Given the description of an element on the screen output the (x, y) to click on. 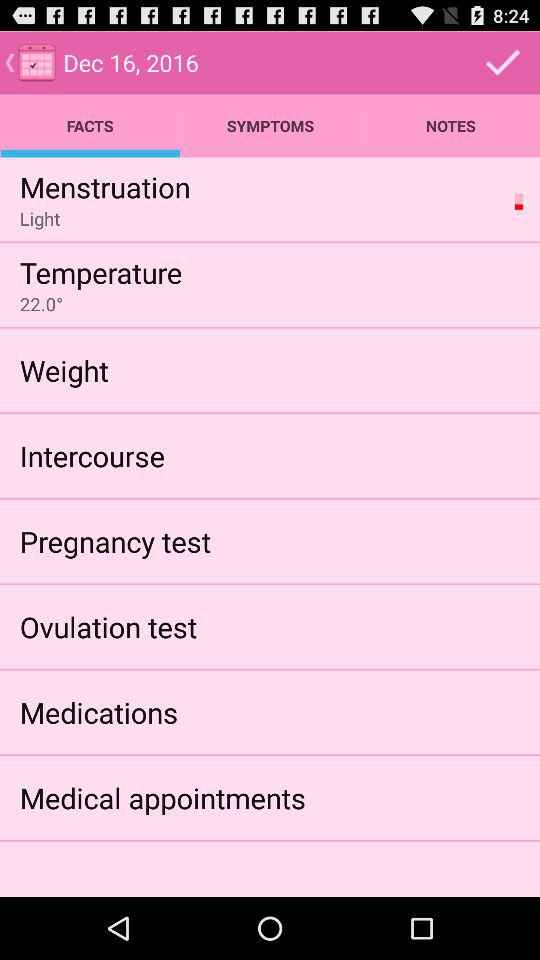
scroll to the medical appointments (162, 797)
